Given the description of an element on the screen output the (x, y) to click on. 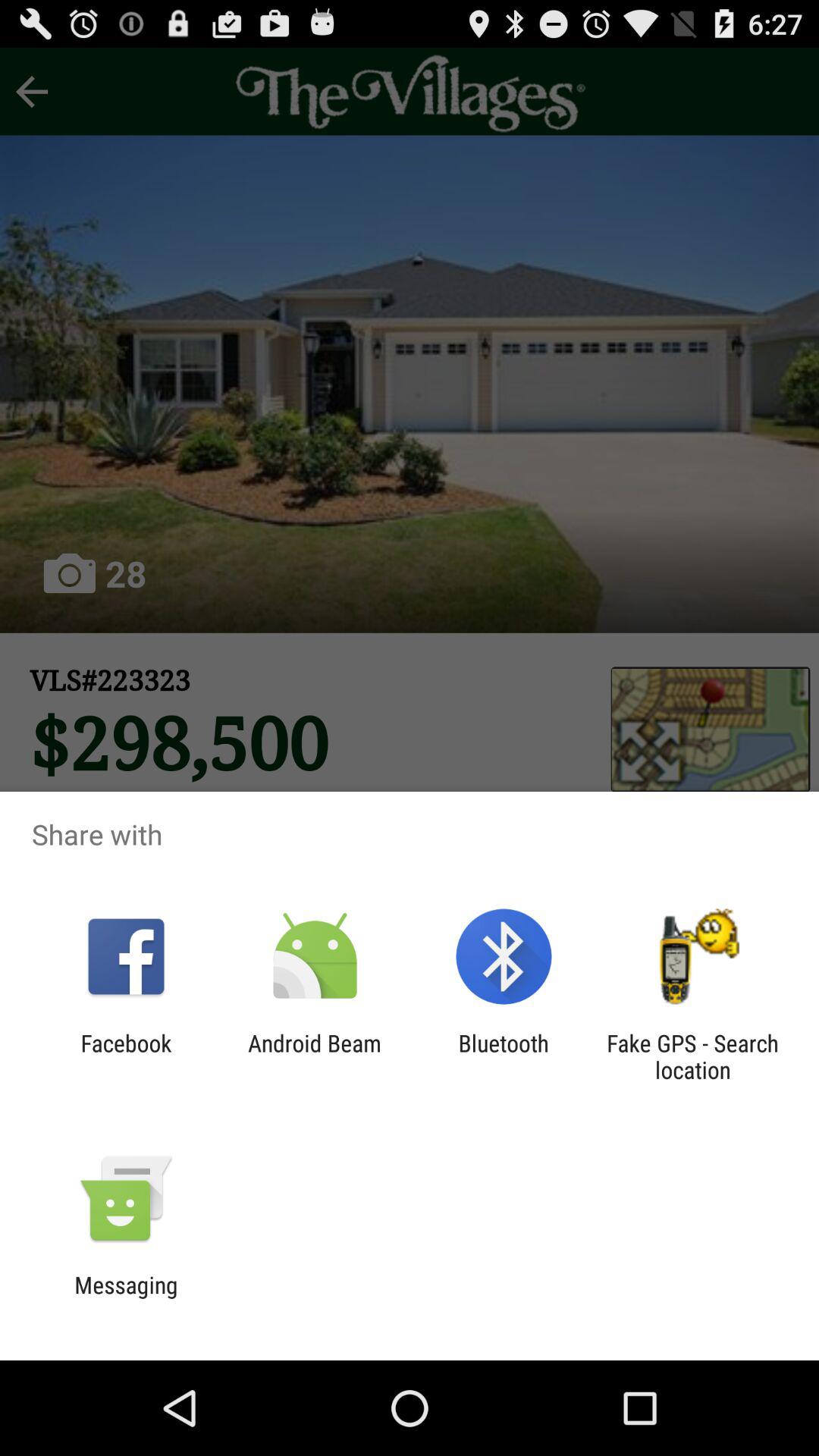
press app next to facebook icon (314, 1056)
